Given the description of an element on the screen output the (x, y) to click on. 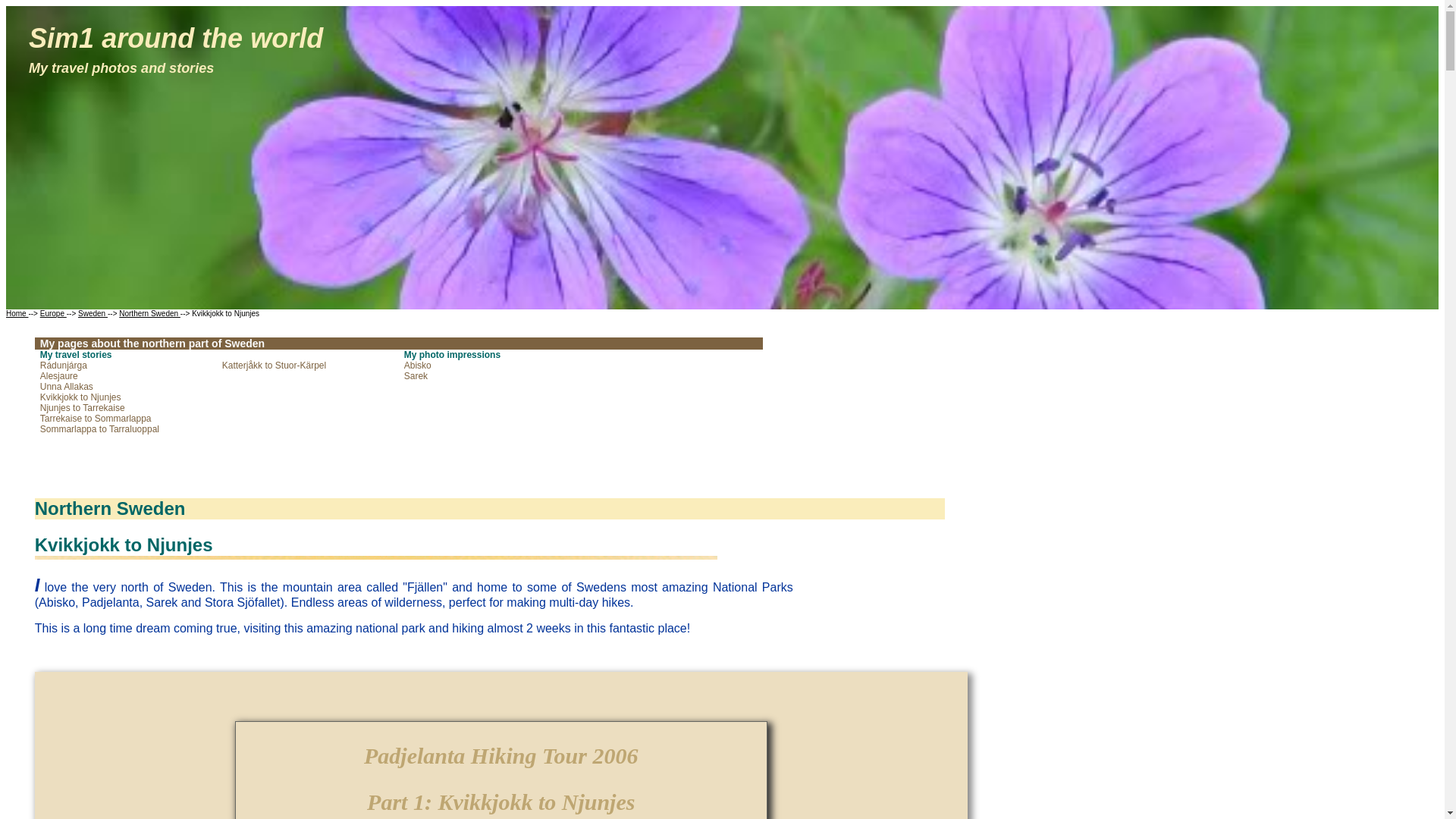
Sarek (416, 376)
Unna Allakas (66, 386)
Abisko (417, 365)
Alesjaure (59, 376)
Sommarlappa to Tarraluoppal (99, 429)
Njunjes to Tarrekaise (82, 407)
Home (16, 313)
Tarrekaise to Sommarlappa (95, 418)
Sim1 around the world (176, 38)
Sweden (92, 313)
Northern Sweden (149, 313)
My pages about the northern part of Sweden (152, 343)
Kvikkjokk to Njunjes (80, 397)
Europe (53, 313)
